Given the description of an element on the screen output the (x, y) to click on. 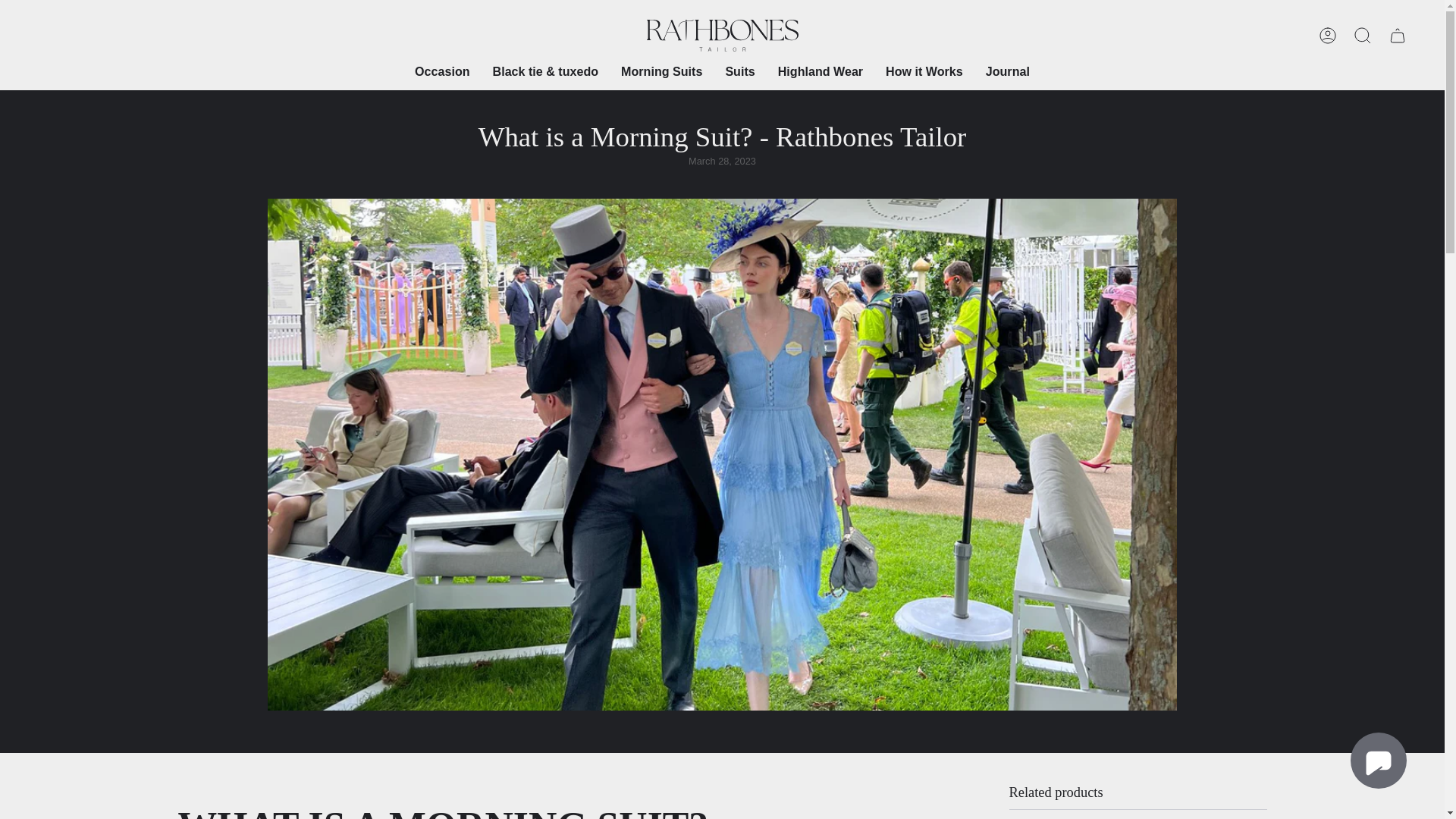
Morning Suits (661, 71)
Account (1327, 35)
Occasion (441, 71)
Highland Wear (821, 71)
Suits (739, 71)
Search (1362, 35)
Cart (1397, 35)
My Account (1327, 35)
Cart (1397, 35)
